Given the description of an element on the screen output the (x, y) to click on. 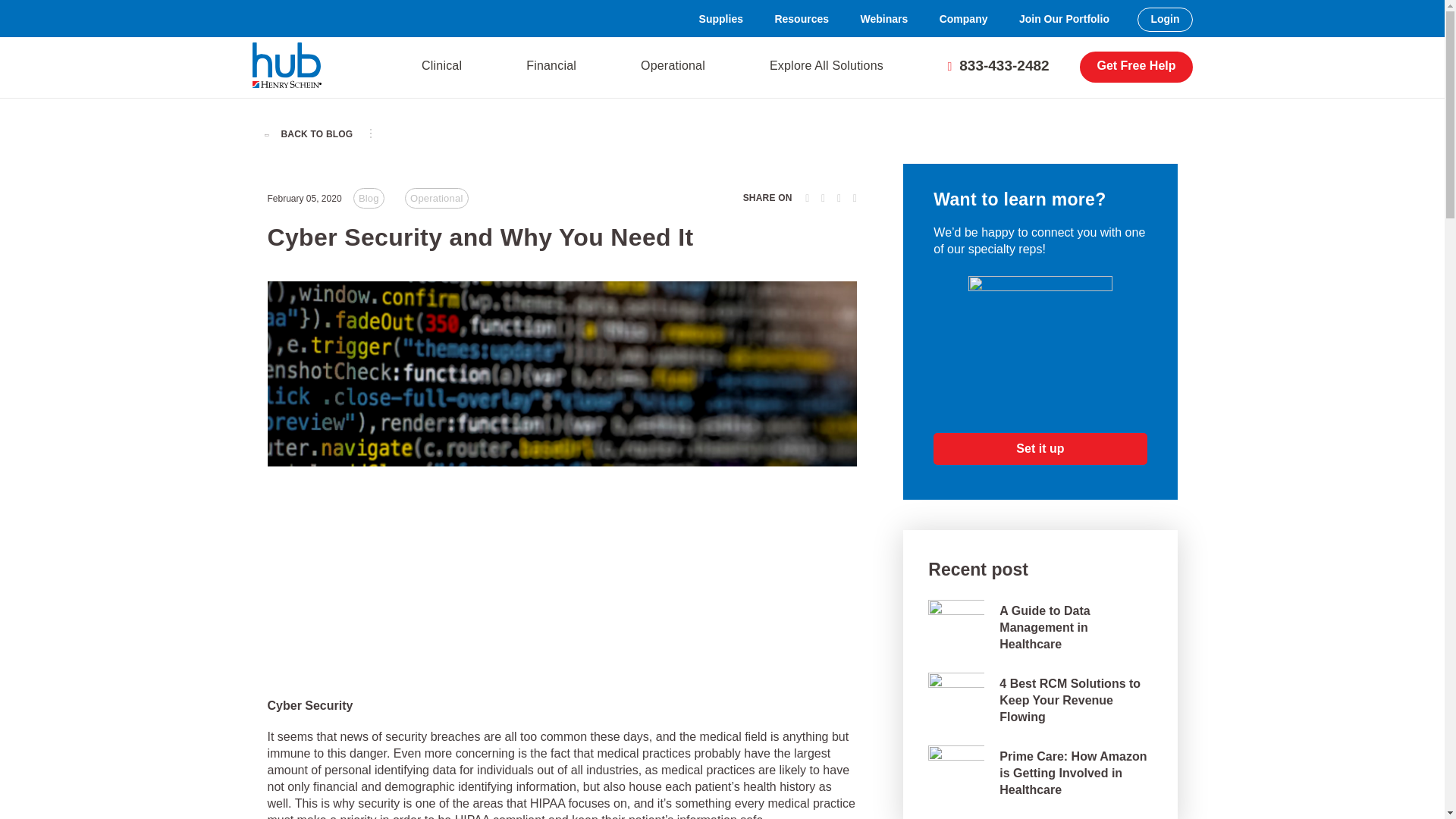
Join Our Portfolio (1064, 19)
Login (1164, 19)
BACK TO BLOG (312, 133)
Explore All Solutions (830, 66)
Clinical (445, 66)
Supplies (721, 19)
Webinars (883, 19)
Company (963, 19)
Financial (554, 66)
Operational (676, 66)
